Given the description of an element on the screen output the (x, y) to click on. 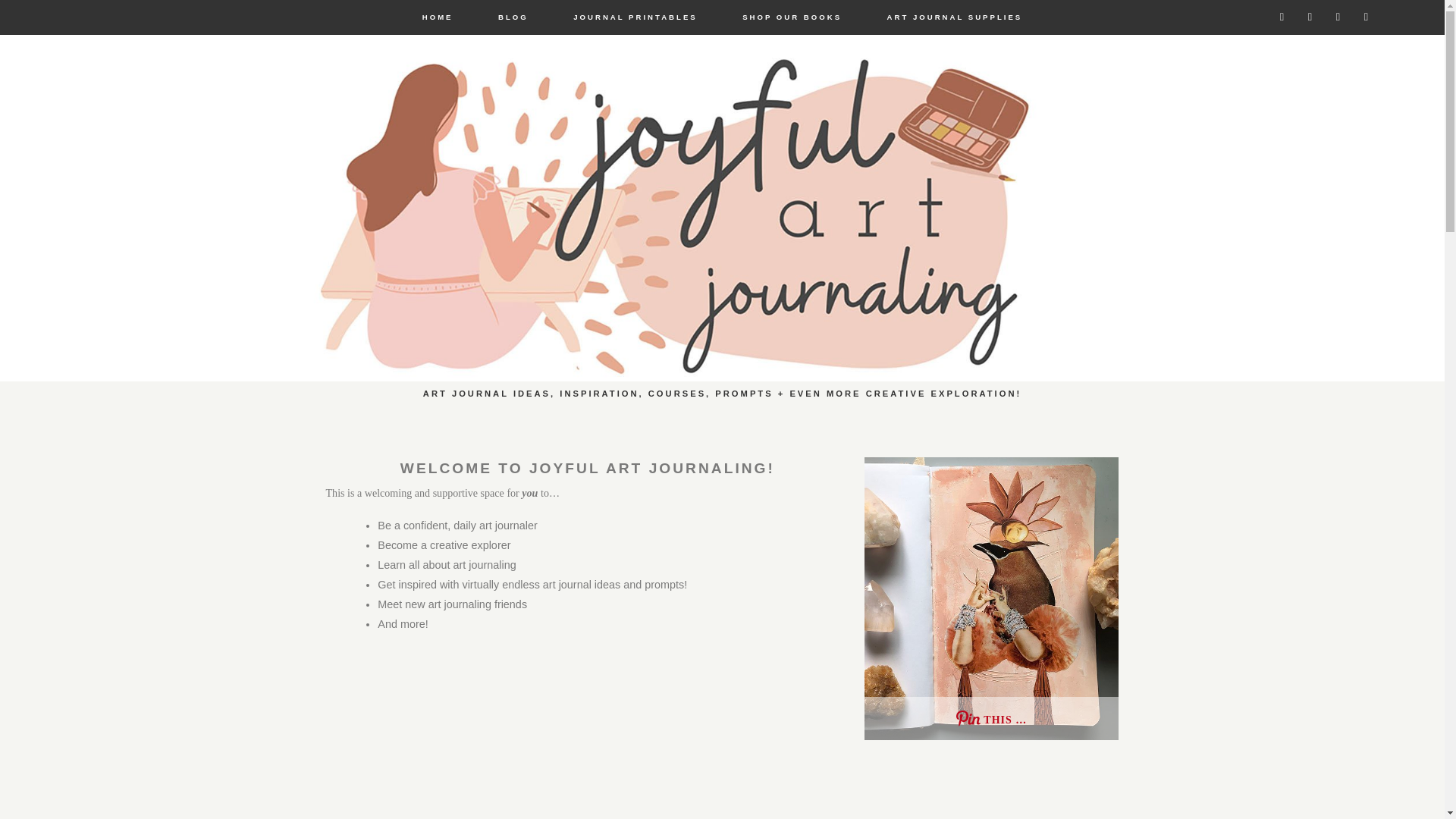
ART JOURNAL SUPPLIES (954, 17)
HOME (437, 17)
JOURNAL PRINTABLES (634, 17)
BLOG (513, 17)
SHOP OUR BOOKS (791, 17)
